Given the description of an element on the screen output the (x, y) to click on. 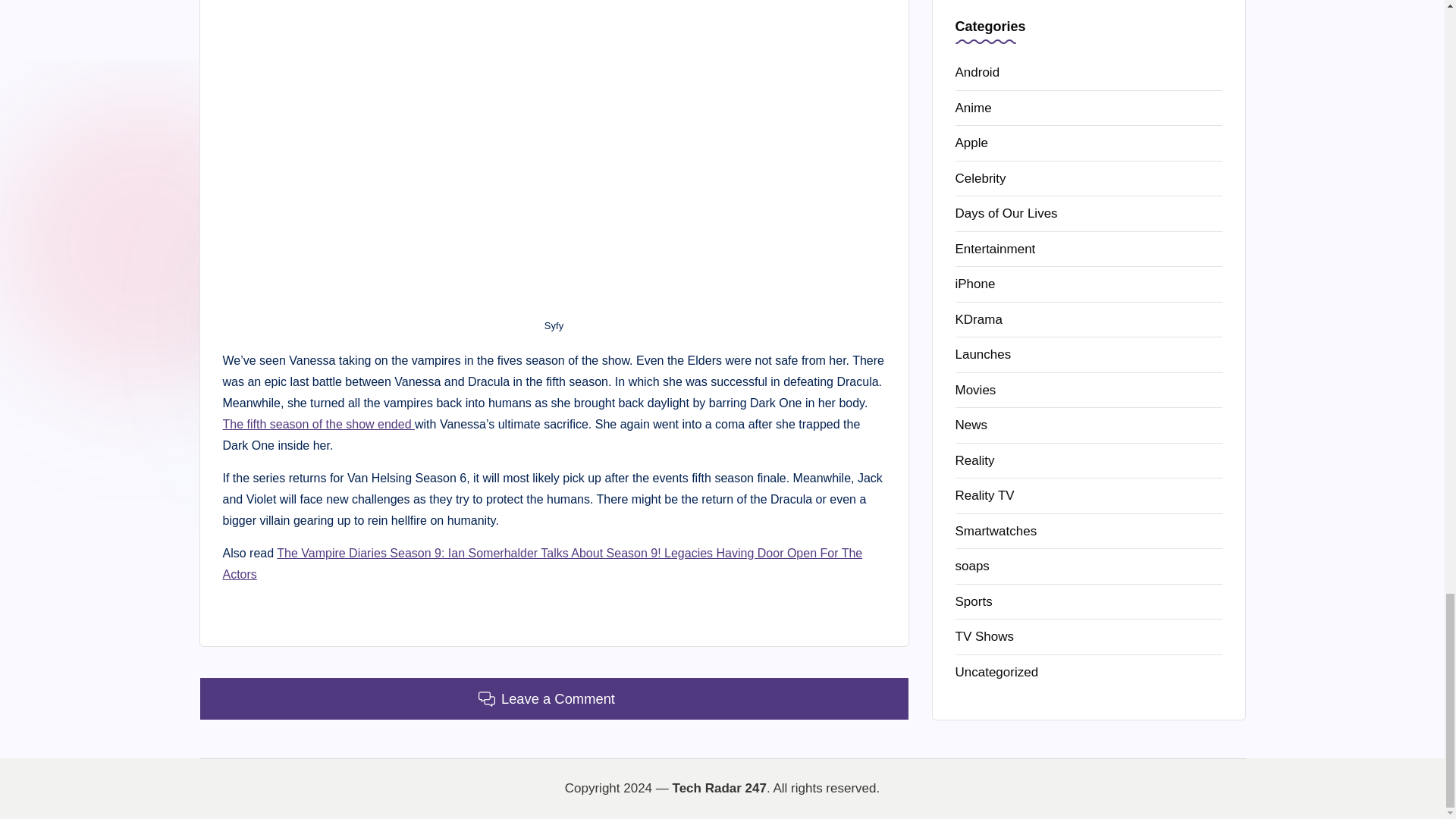
Leave a Comment (553, 698)
The fifth season of the show ended (318, 423)
